Given the description of an element on the screen output the (x, y) to click on. 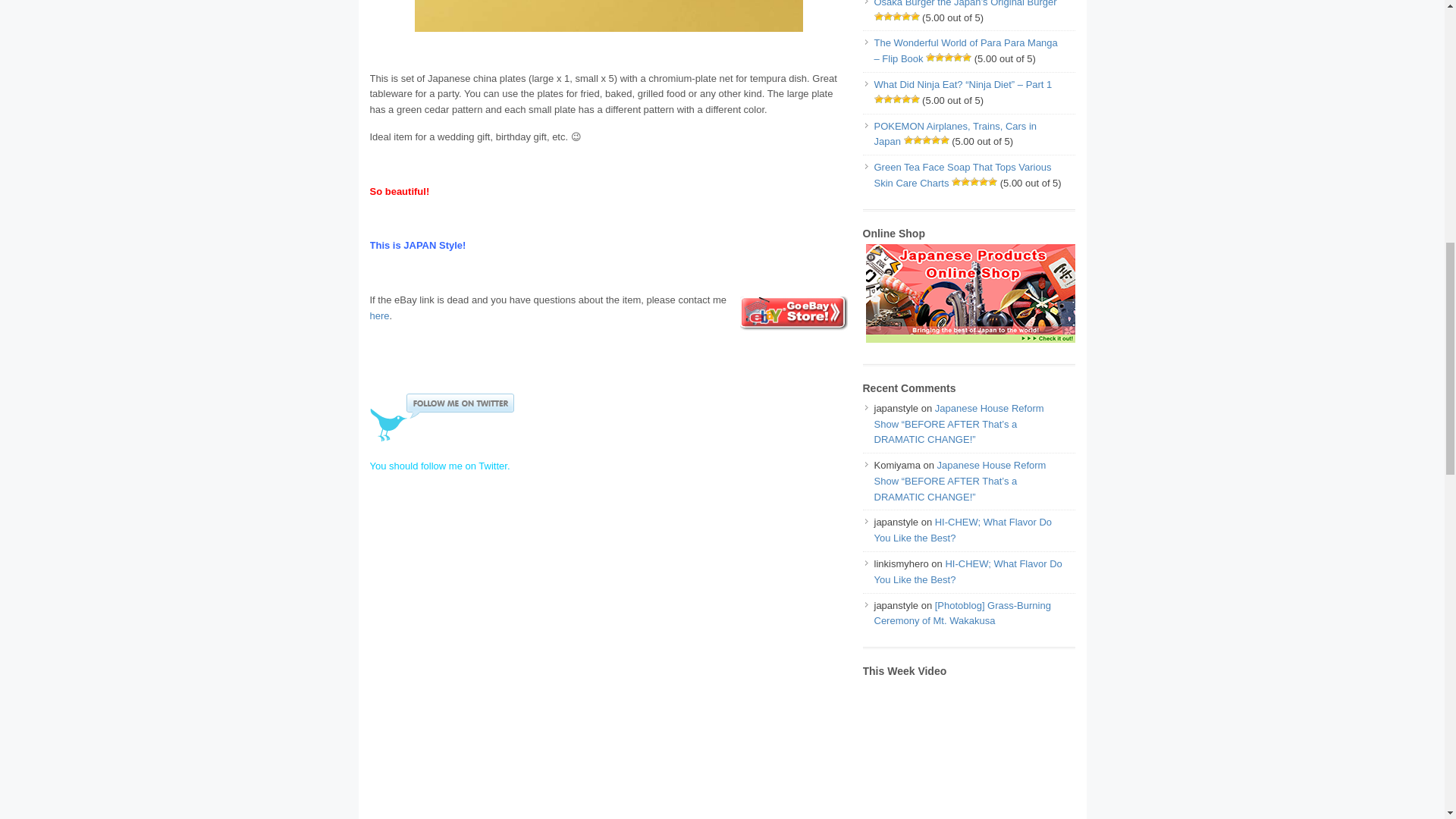
twitter (441, 417)
tempura plates (607, 15)
here (379, 315)
HI-CHEW; What Flavor Do You Like the Best? (967, 571)
HI-CHEW; What Flavor Do You Like the Best? (962, 529)
Green Tea Face Soap That Tops Various Skin Care Charts (962, 175)
ebay (793, 313)
3 votes, average: 5.00 out of 5 (877, 16)
POKEMON Airplanes, Trains, Cars in Japan (954, 134)
